Given the description of an element on the screen output the (x, y) to click on. 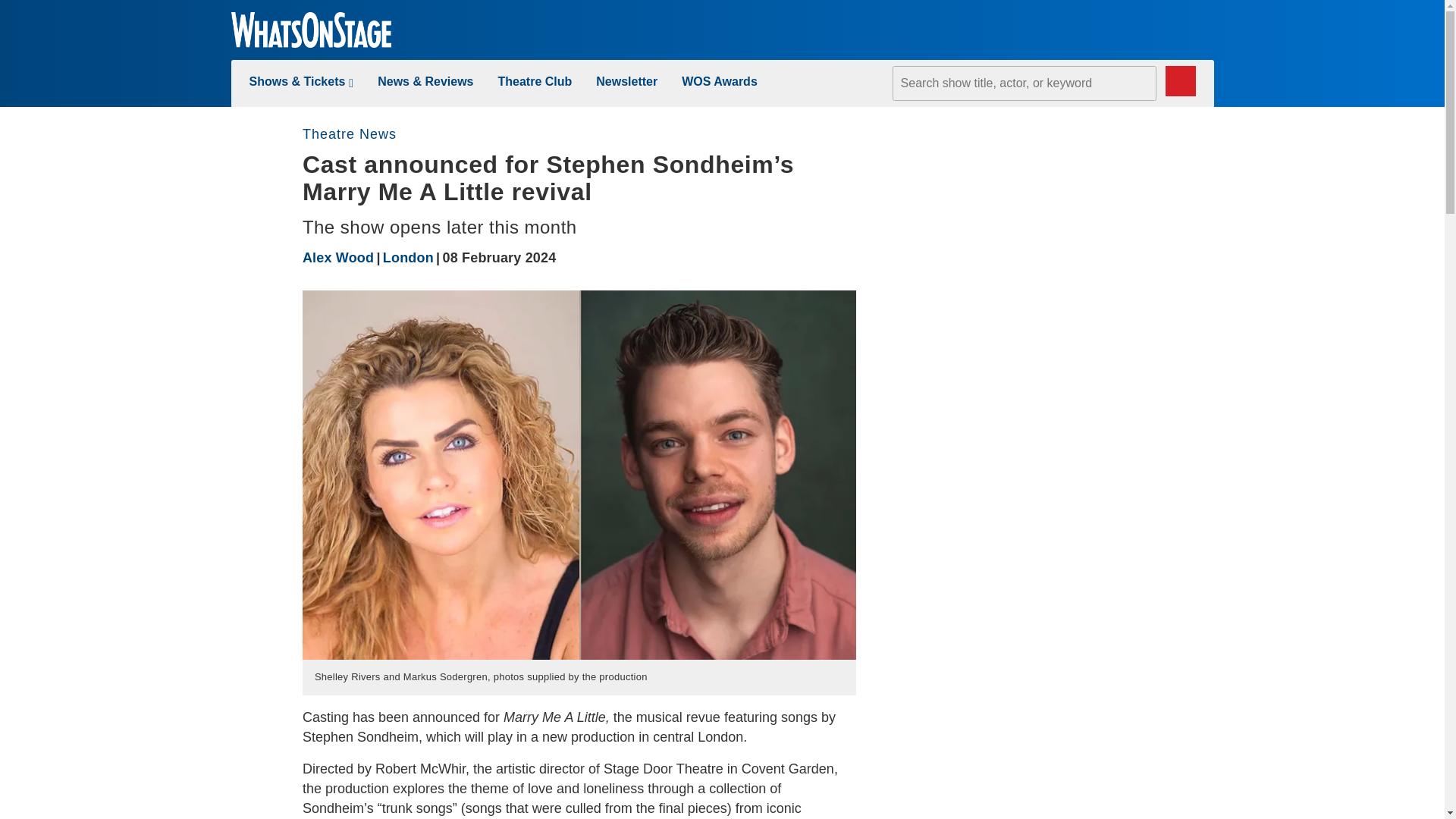
Theatre Club (534, 81)
WOS Awards (719, 81)
new-and-reviews-link (425, 81)
Newsletter (626, 81)
